Given the description of an element on the screen output the (x, y) to click on. 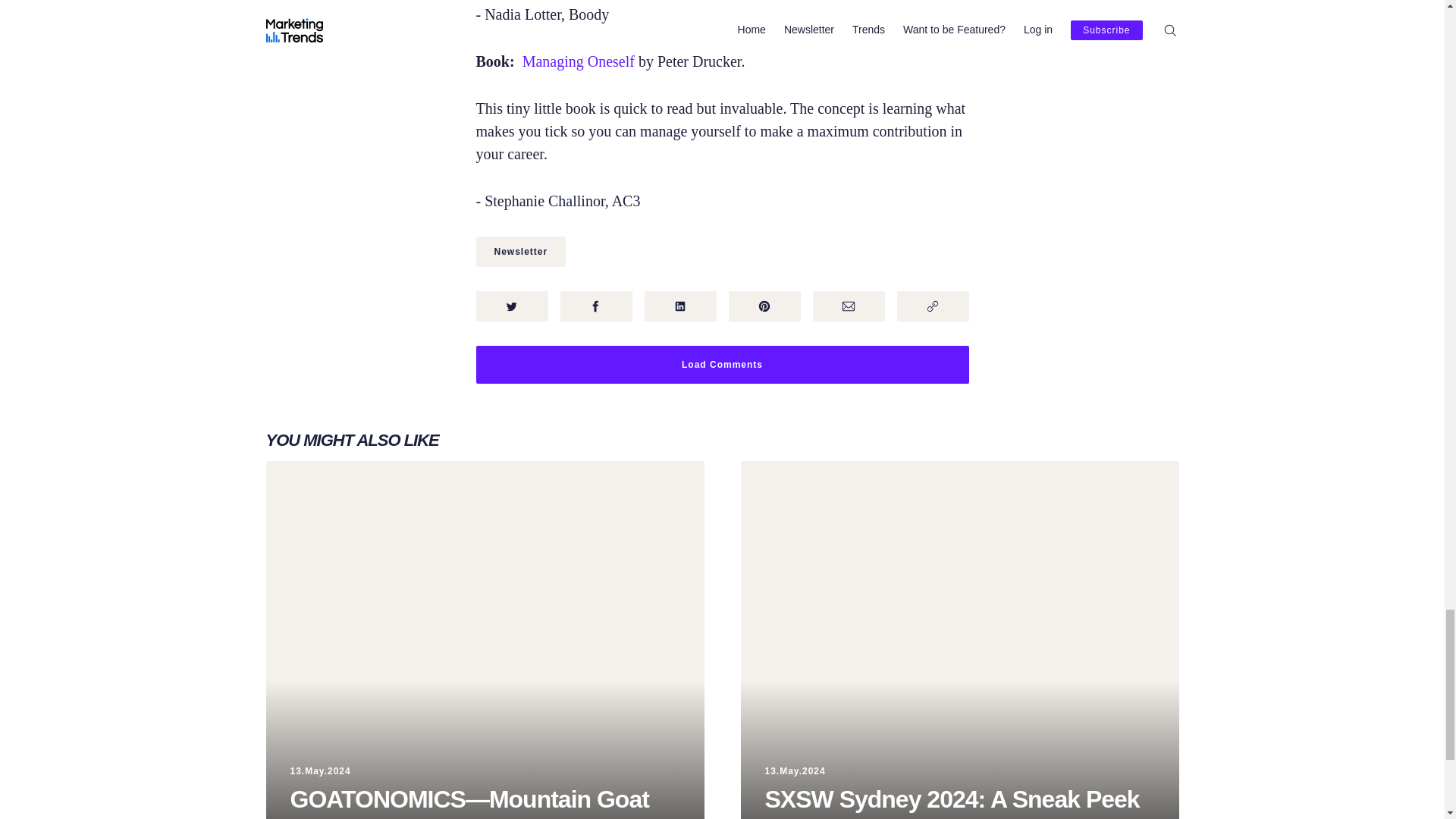
Managing Oneself (578, 61)
Share on Pinterest (763, 306)
Copy link (932, 306)
Share via Email (848, 306)
Load Comments (722, 364)
Newsletter (521, 251)
Share on Facebook (595, 306)
Share on LinkedIn (680, 306)
Share on Twitter (512, 306)
13 May 2024 (319, 771)
13 May 2024 (794, 771)
